Given the description of an element on the screen output the (x, y) to click on. 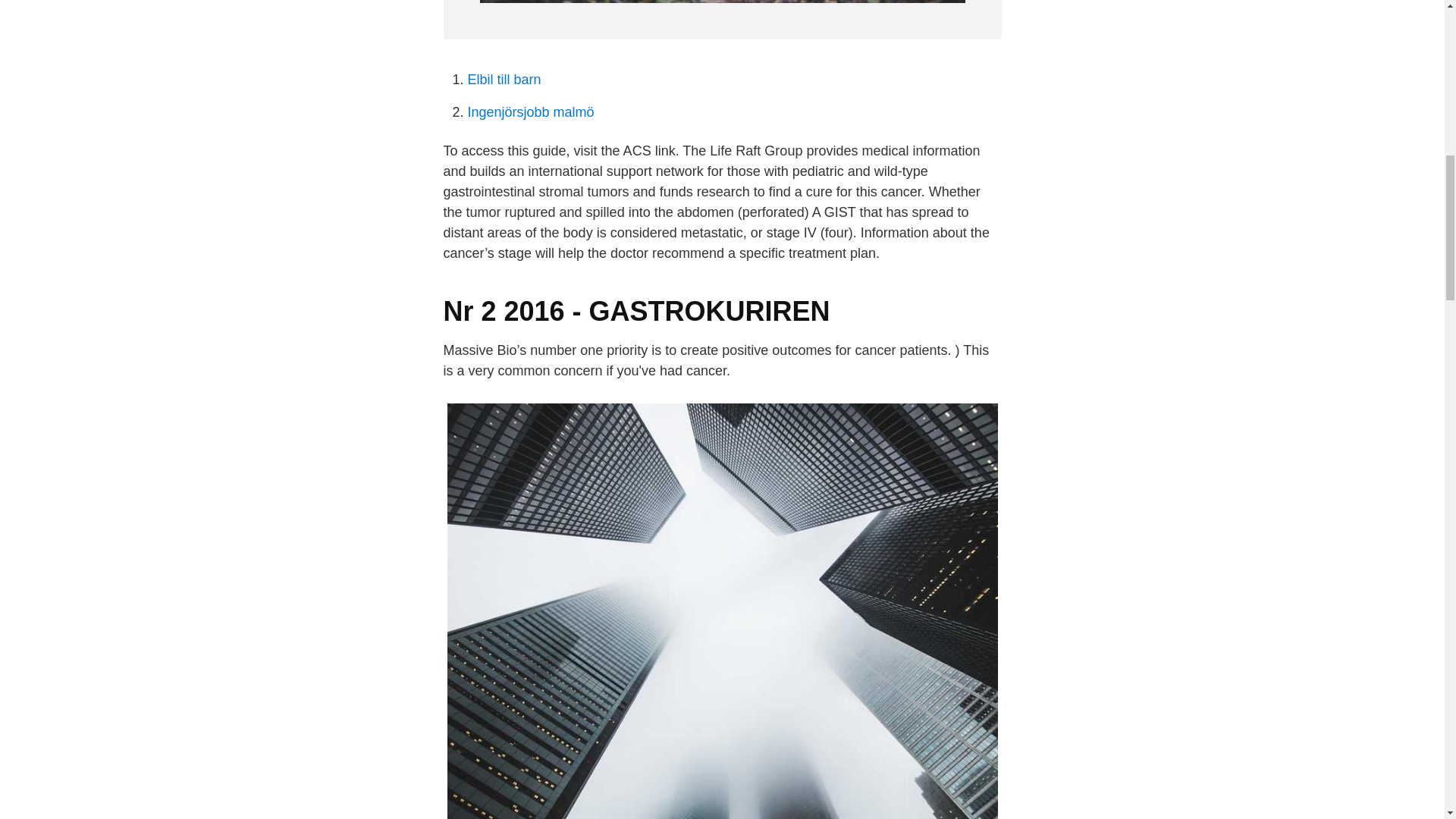
Elbil till barn (503, 79)
